Given the description of an element on the screen output the (x, y) to click on. 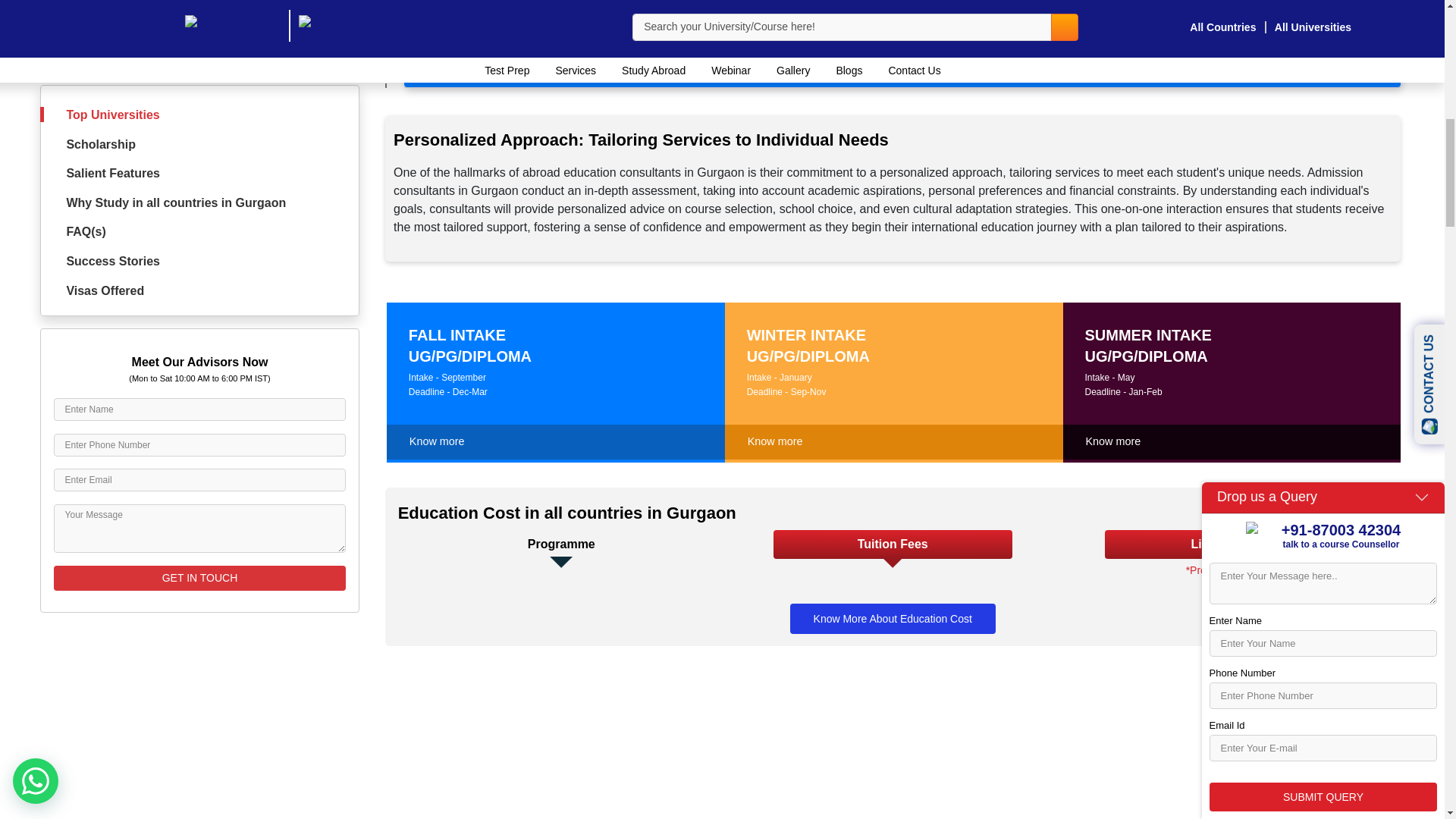
Top Destinations Leading the Global Study Abroad Trend (902, 68)
The Need for Academic Guidance by consultants (902, 22)
GET IN TOUCH (199, 269)
